Given the description of an element on the screen output the (x, y) to click on. 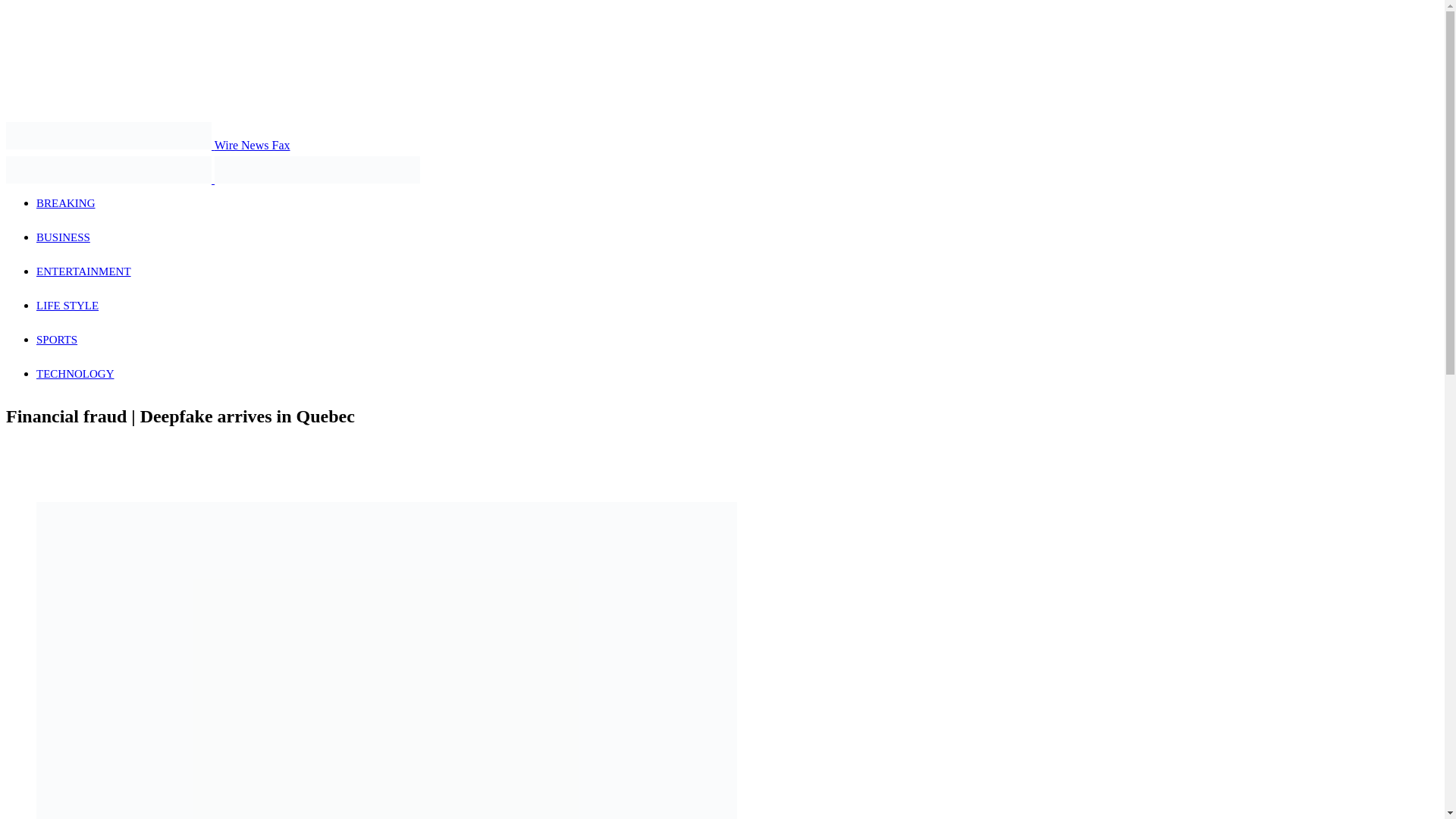
ENTERTAINMENT (83, 271)
Your Fastest Source for Reliable News (317, 169)
LIFE STYLE (67, 305)
Your Fastest Source for Reliable News (108, 135)
Wire News Fax (147, 144)
BUSINESS (63, 236)
SPORTS (56, 339)
BREAKING (66, 203)
Your Fastest Source for Reliable News (108, 169)
TECHNOLOGY (75, 373)
